Given the description of an element on the screen output the (x, y) to click on. 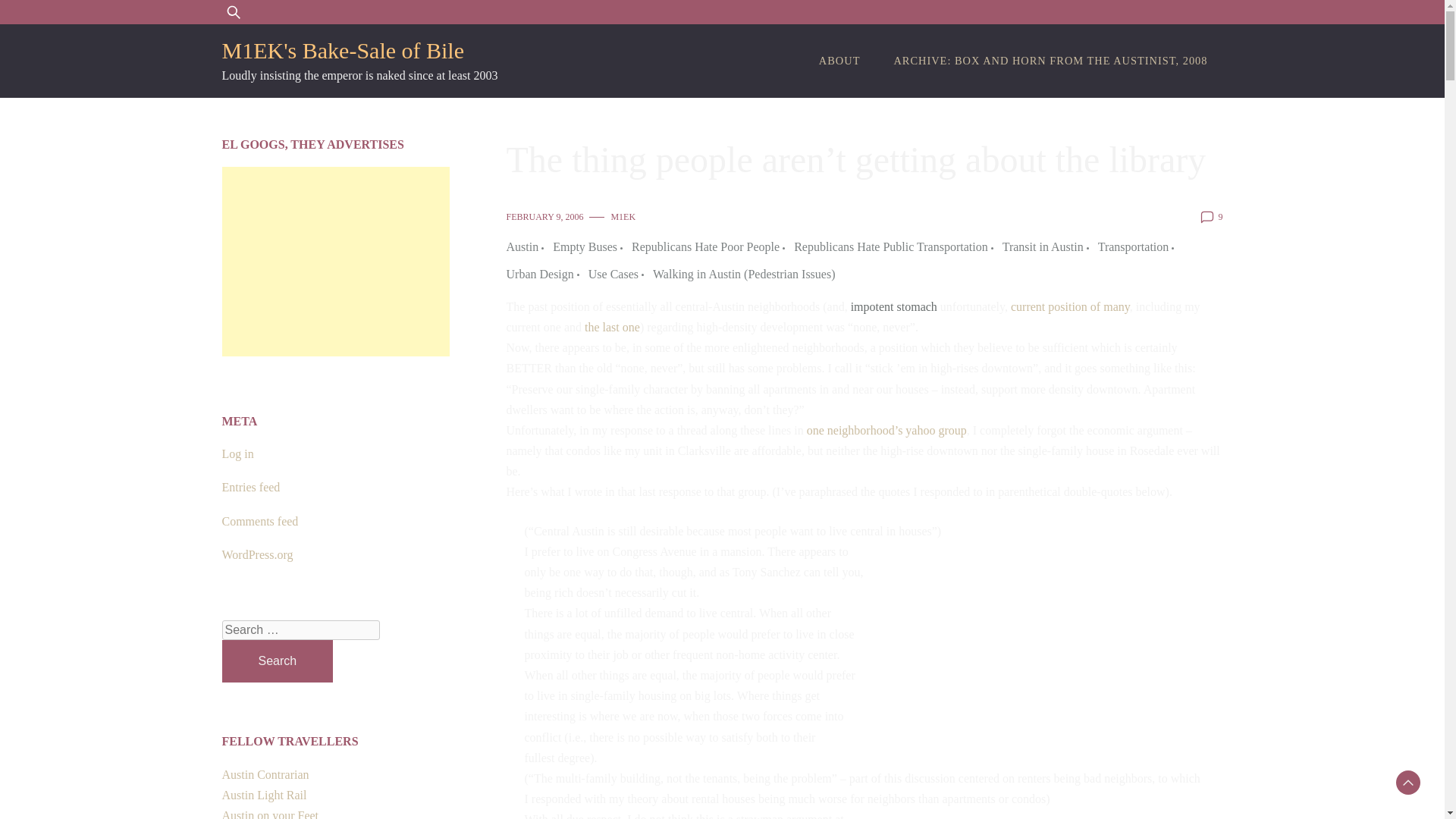
Search (277, 660)
Transportation (1137, 246)
Search (277, 660)
Austin (526, 246)
ABOUT (839, 60)
M1EK's Bake-Sale of Bile (342, 50)
stomach (916, 306)
Central Austin CDC (263, 794)
Republicans Hate Poor People (709, 246)
